Given the description of an element on the screen output the (x, y) to click on. 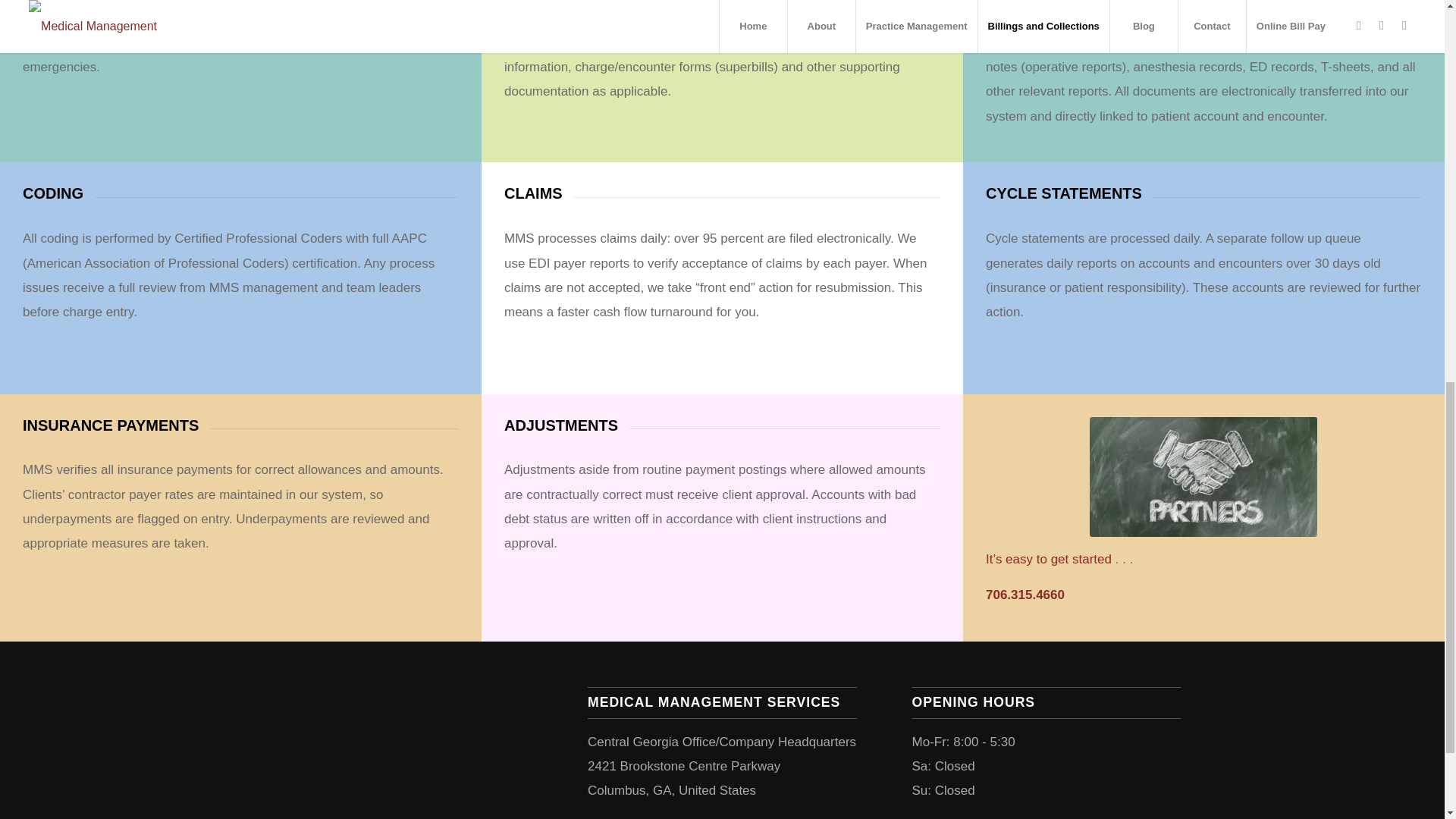
medical-billing-services (1203, 476)
